Given the description of an element on the screen output the (x, y) to click on. 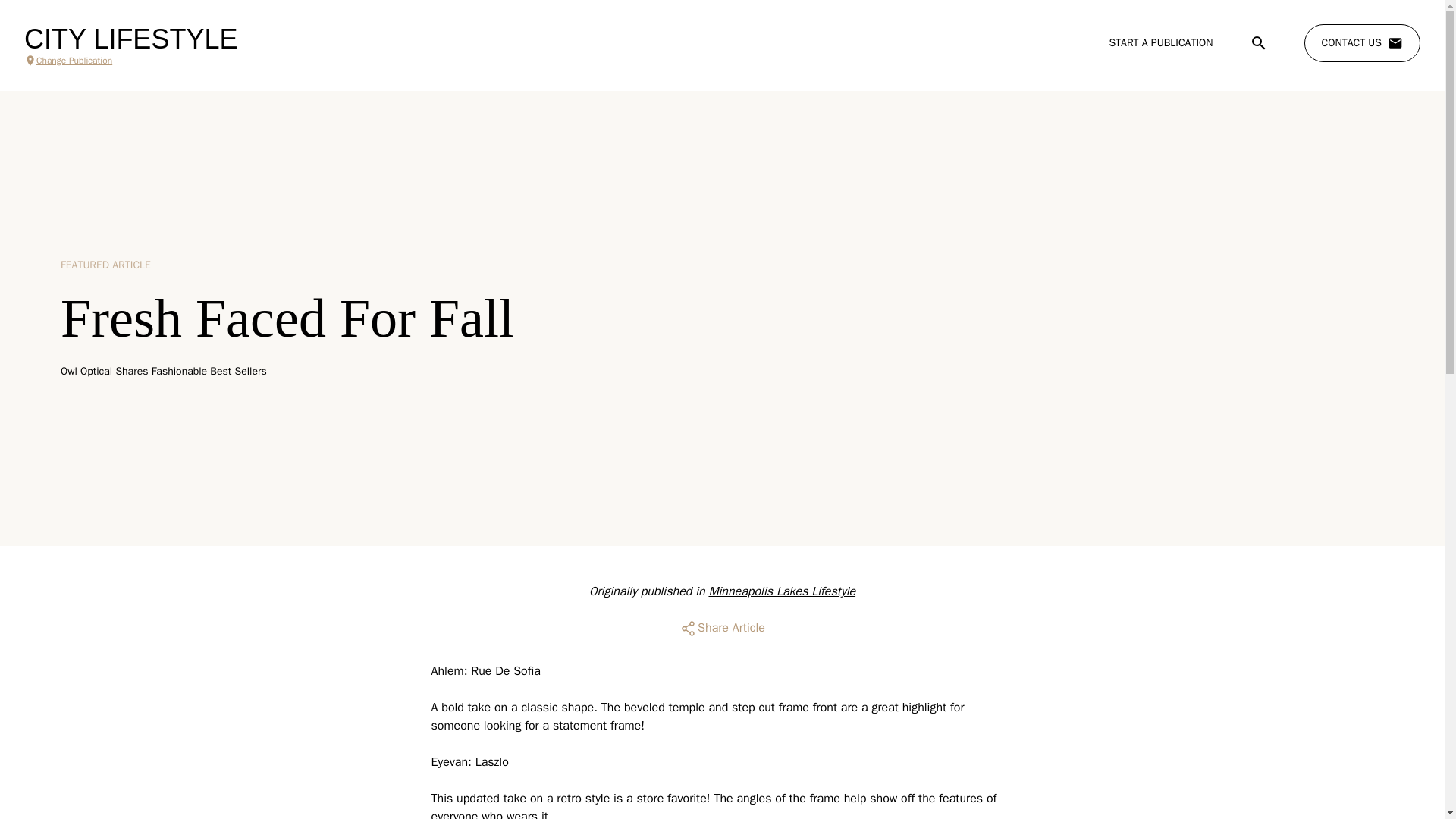
CONTACT US (1362, 43)
CITY LIFESTYLE (130, 39)
Change Publication (130, 60)
Minneapolis Lakes Lifestyle (781, 590)
Share Article (722, 628)
START A PUBLICATION (1160, 42)
